Given the description of an element on the screen output the (x, y) to click on. 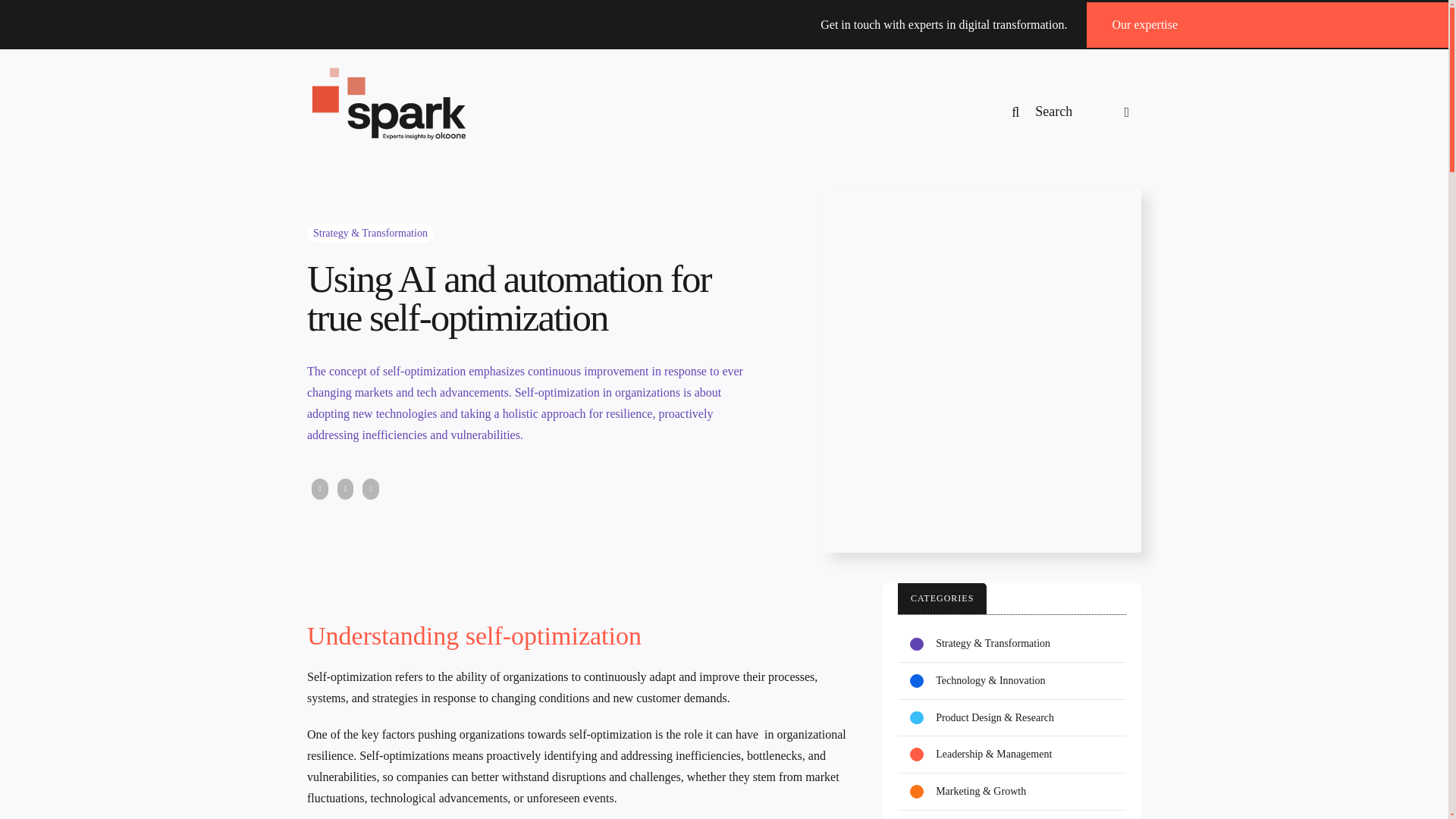
CATEGORIES (942, 598)
Our expertise (1145, 23)
Toggle Navigation (1123, 111)
